Given the description of an element on the screen output the (x, y) to click on. 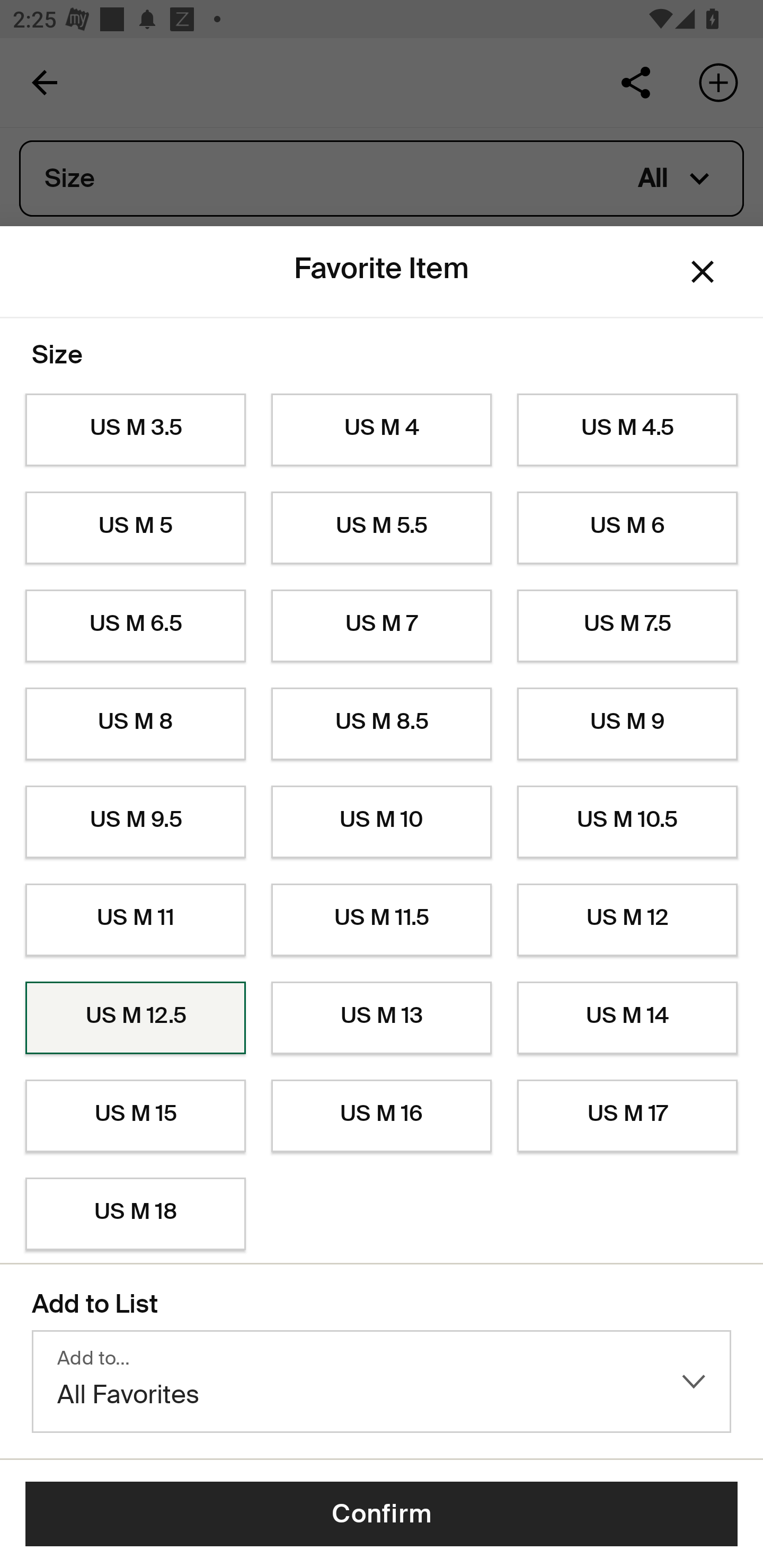
Dismiss (702, 271)
US M 3.5 (135, 430)
US M 4 (381, 430)
US M 4.5 (627, 430)
US M 5 (135, 527)
US M 5.5 (381, 527)
US M 6 (627, 527)
US M 6.5 (135, 626)
US M 7 (381, 626)
US M 7.5 (627, 626)
US M 8 (135, 724)
US M 8.5 (381, 724)
US M 9 (627, 724)
US M 9.5 (135, 822)
US M 10 (381, 822)
US M 10.5 (627, 822)
US M 11 (135, 919)
US M 11.5 (381, 919)
US M 12 (627, 919)
US M 12.5 (135, 1018)
US M 13 (381, 1018)
US M 14 (627, 1018)
US M 15 (135, 1116)
US M 16 (381, 1116)
US M 17 (627, 1116)
US M 18 (135, 1214)
Add to… All Favorites (381, 1381)
Confirm (381, 1513)
